Given the description of an element on the screen output the (x, y) to click on. 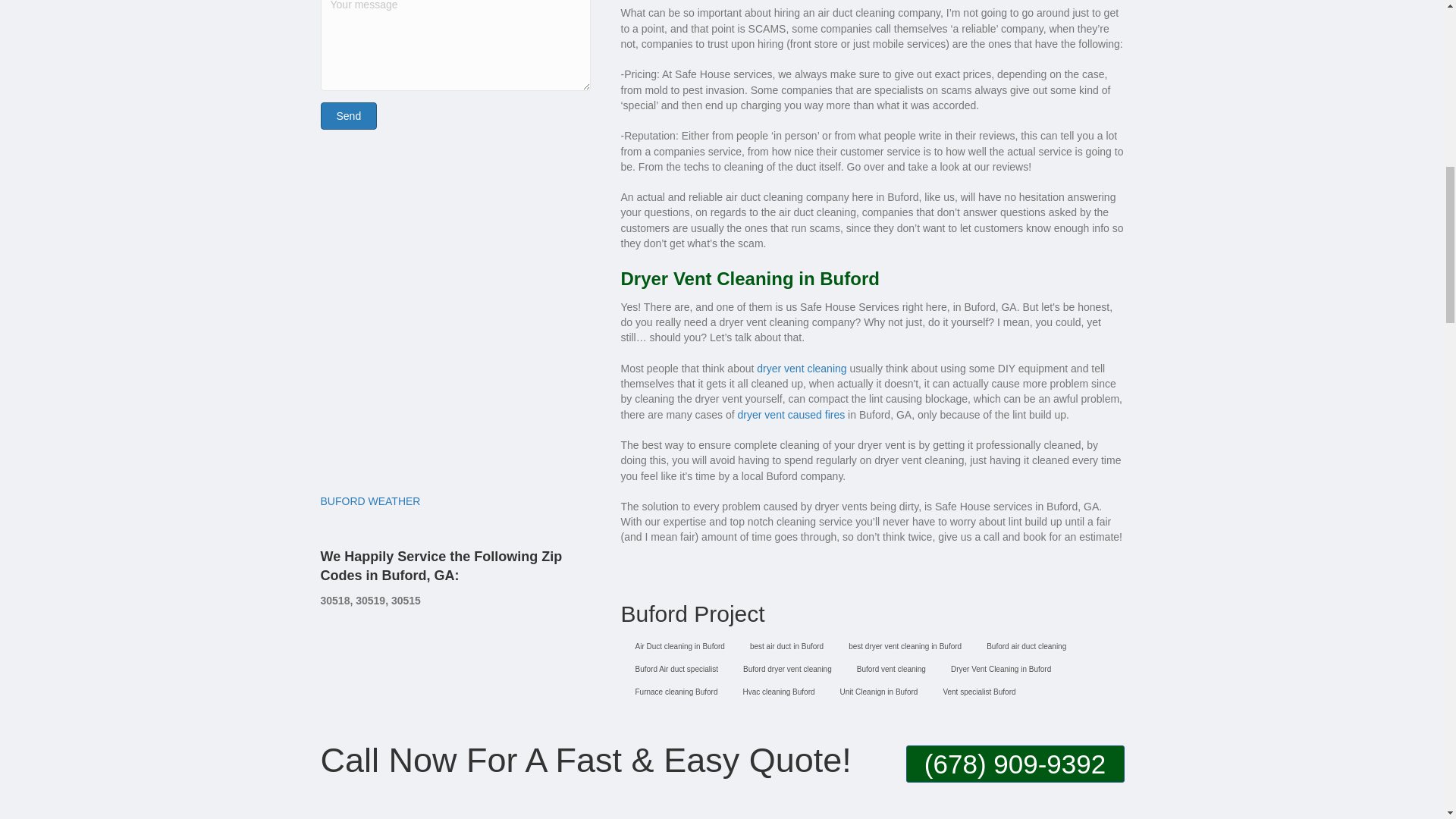
Buford air duct cleaning (1022, 647)
best dryer vent cleaning in Buford (900, 647)
dryer vent caused fires (791, 414)
Air Duct cleaning in Buford (675, 647)
Unit Cleanign in Buford (875, 692)
Buford vent cleaning (887, 670)
Buford dryer vent cleaning (783, 670)
best air duct in Buford (782, 647)
dryer vent cleaning (801, 368)
BUFORD WEATHER (370, 500)
